Given the description of an element on the screen output the (x, y) to click on. 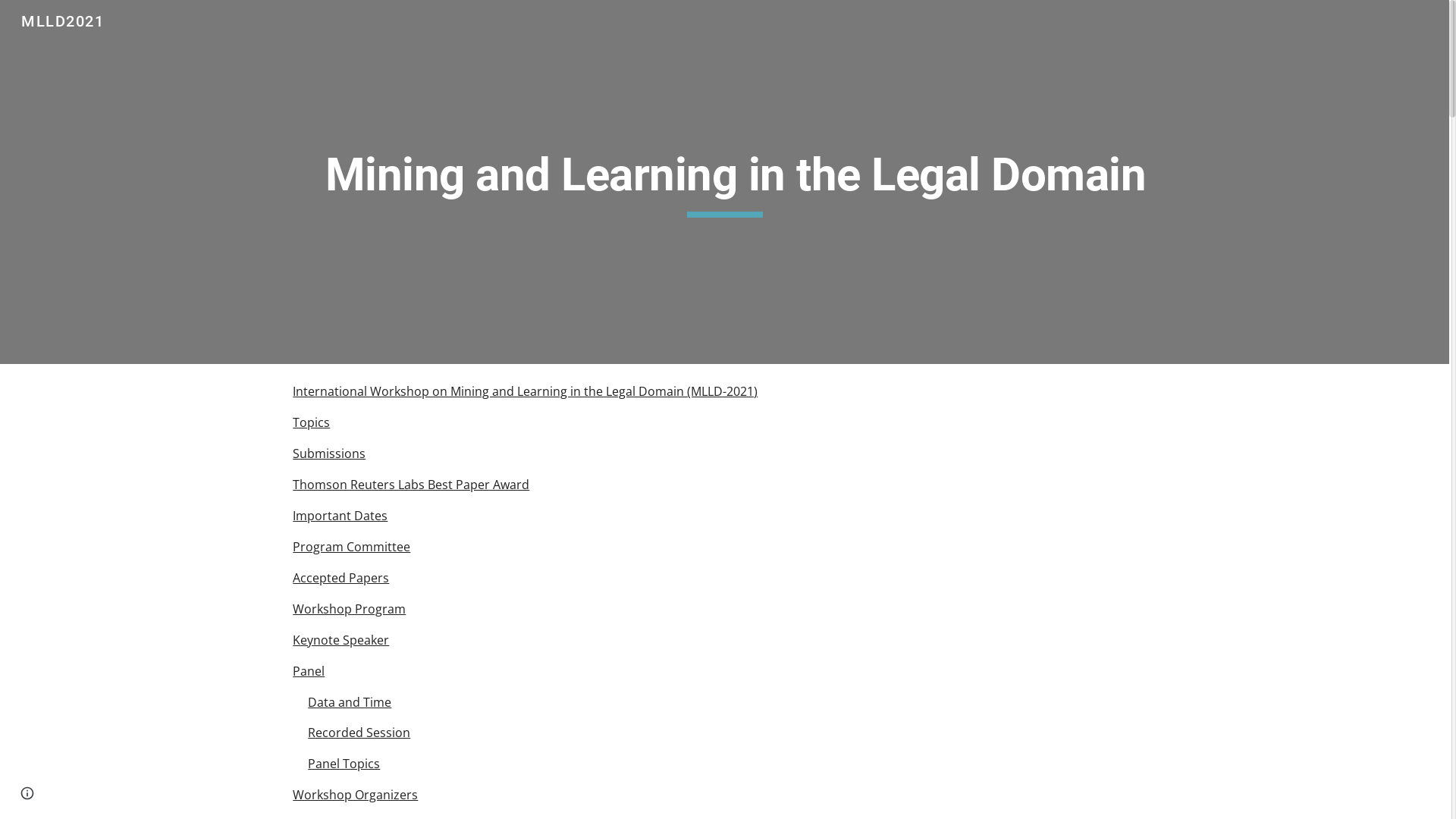
Program Committee Element type: text (351, 546)
Thomson Reuters Labs Best Paper Award Element type: text (410, 484)
Panel Topics Element type: text (343, 763)
Panel Element type: text (308, 670)
Topics Element type: text (310, 422)
Data and Time Element type: text (349, 701)
MLLD2021 Element type: text (62, 19)
Keynote Speaker Element type: text (340, 639)
Accepted Papers Element type: text (340, 577)
Important Dates Element type: text (339, 515)
Recorded Session Element type: text (358, 732)
Workshop Program Element type: text (348, 608)
Submissions Element type: text (328, 453)
Workshop Organizers Element type: text (354, 794)
